Given the description of an element on the screen output the (x, y) to click on. 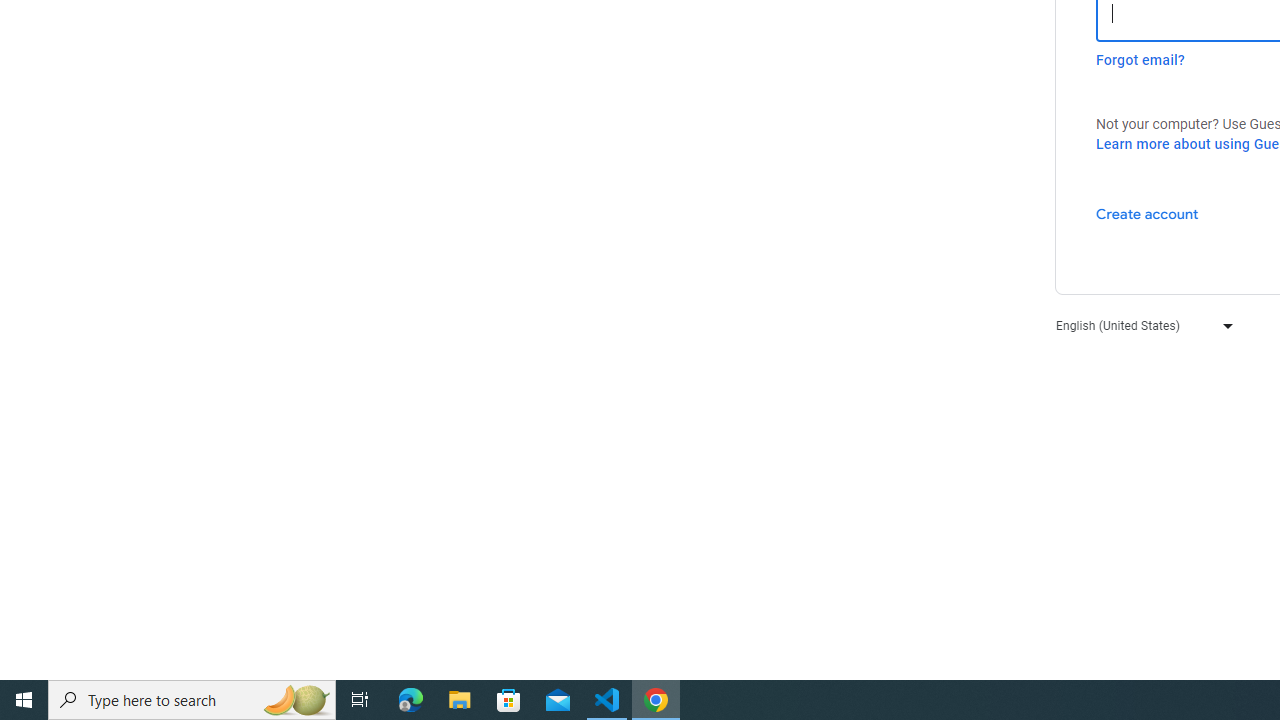
Create account (1146, 213)
Forgot email? (1140, 59)
English (United States) (1139, 324)
